Given the description of an element on the screen output the (x, y) to click on. 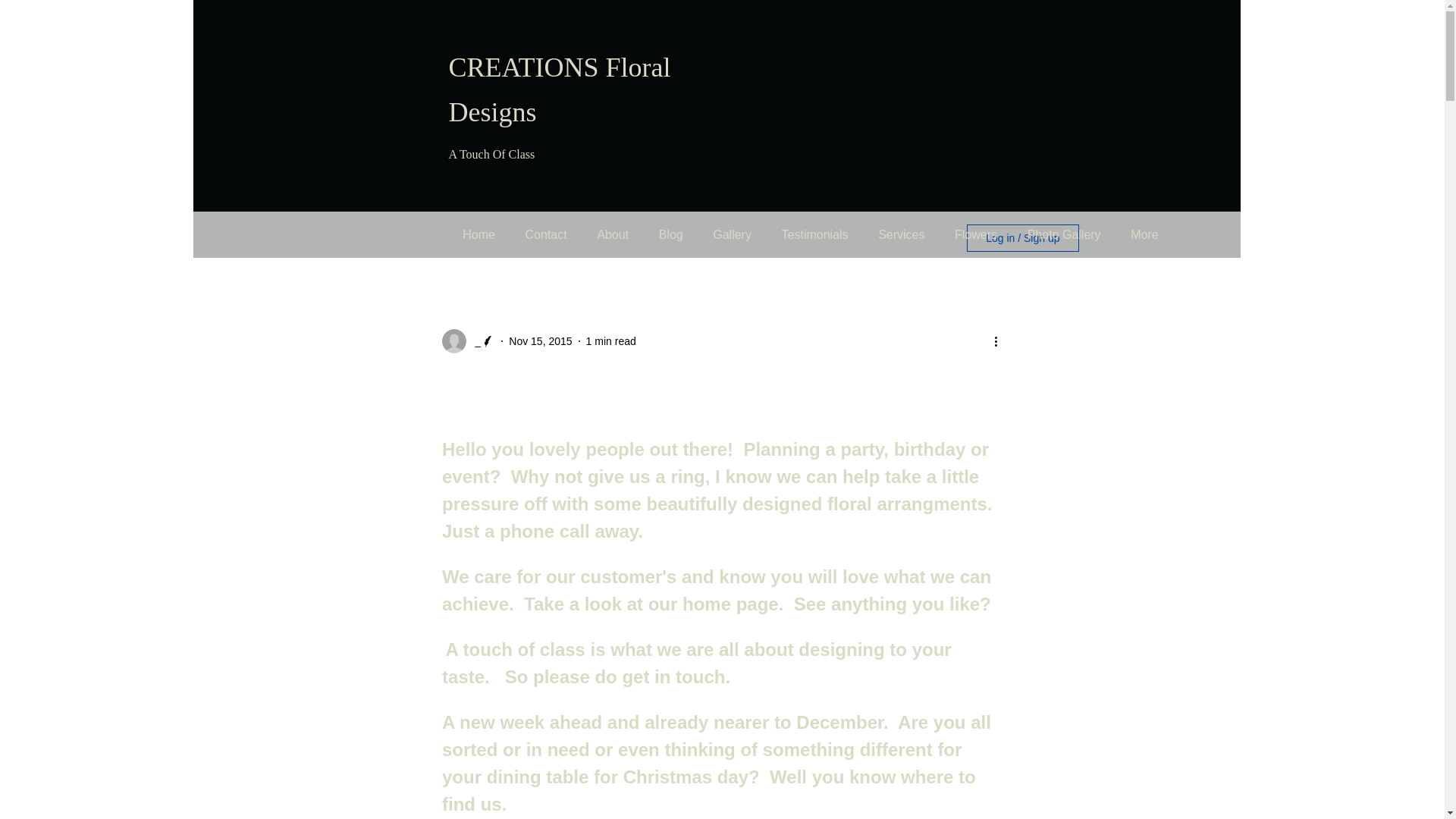
1 min read (611, 340)
Blog (670, 234)
Testimonials (815, 234)
Flowers (975, 234)
Services (901, 234)
Nov 15, 2015 (540, 340)
Home (477, 234)
About (611, 234)
Contact (546, 234)
Gallery (731, 234)
All Posts (388, 238)
More (1144, 234)
Photo Gallery (1063, 234)
